Given the description of an element on the screen output the (x, y) to click on. 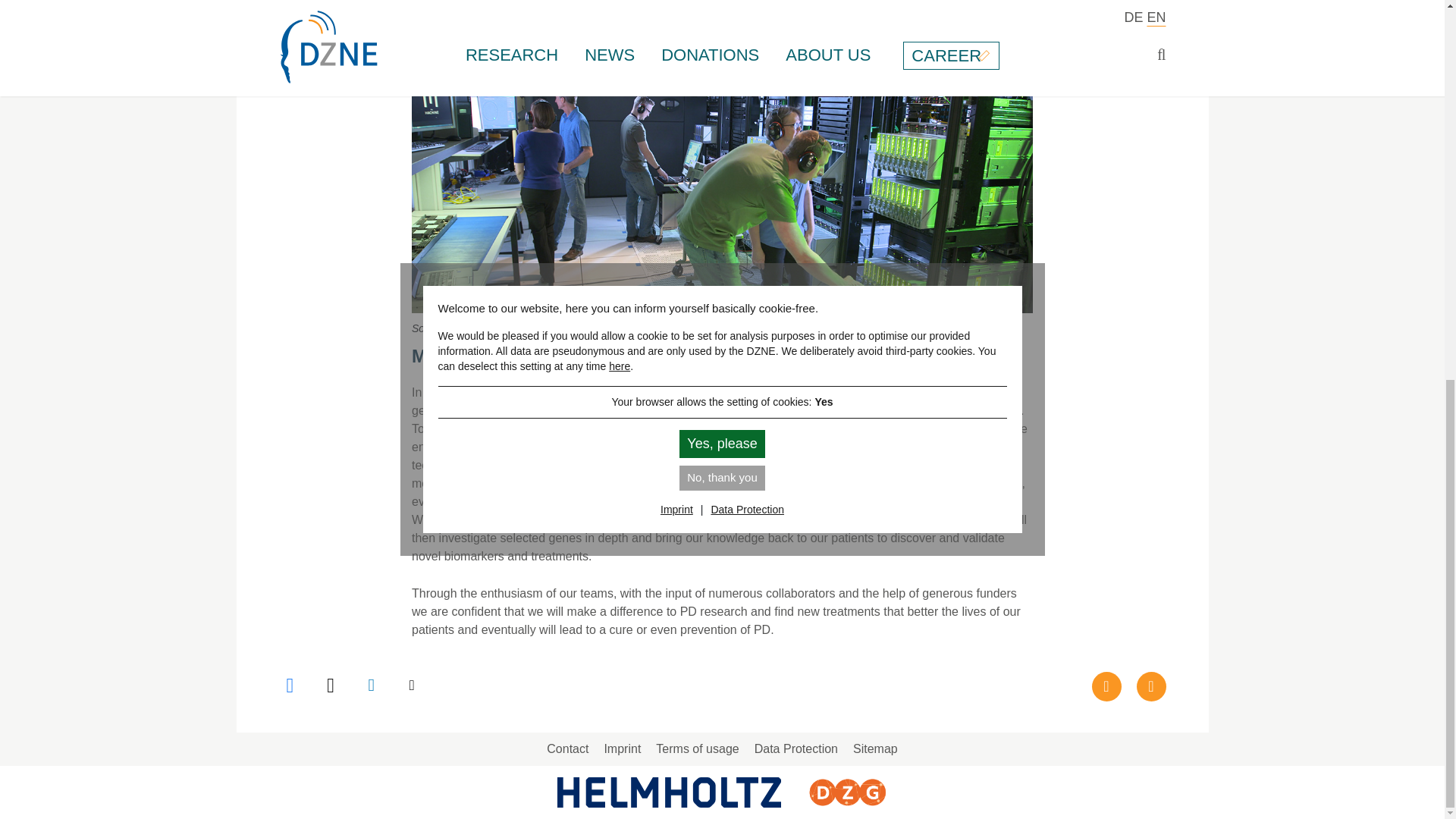
Bei Facebook teilen (292, 685)
In die Zwischenablage kopieren (413, 685)
Bei LinkedIn teilen (373, 685)
Bei Twitter teilen (332, 685)
